Given the description of an element on the screen output the (x, y) to click on. 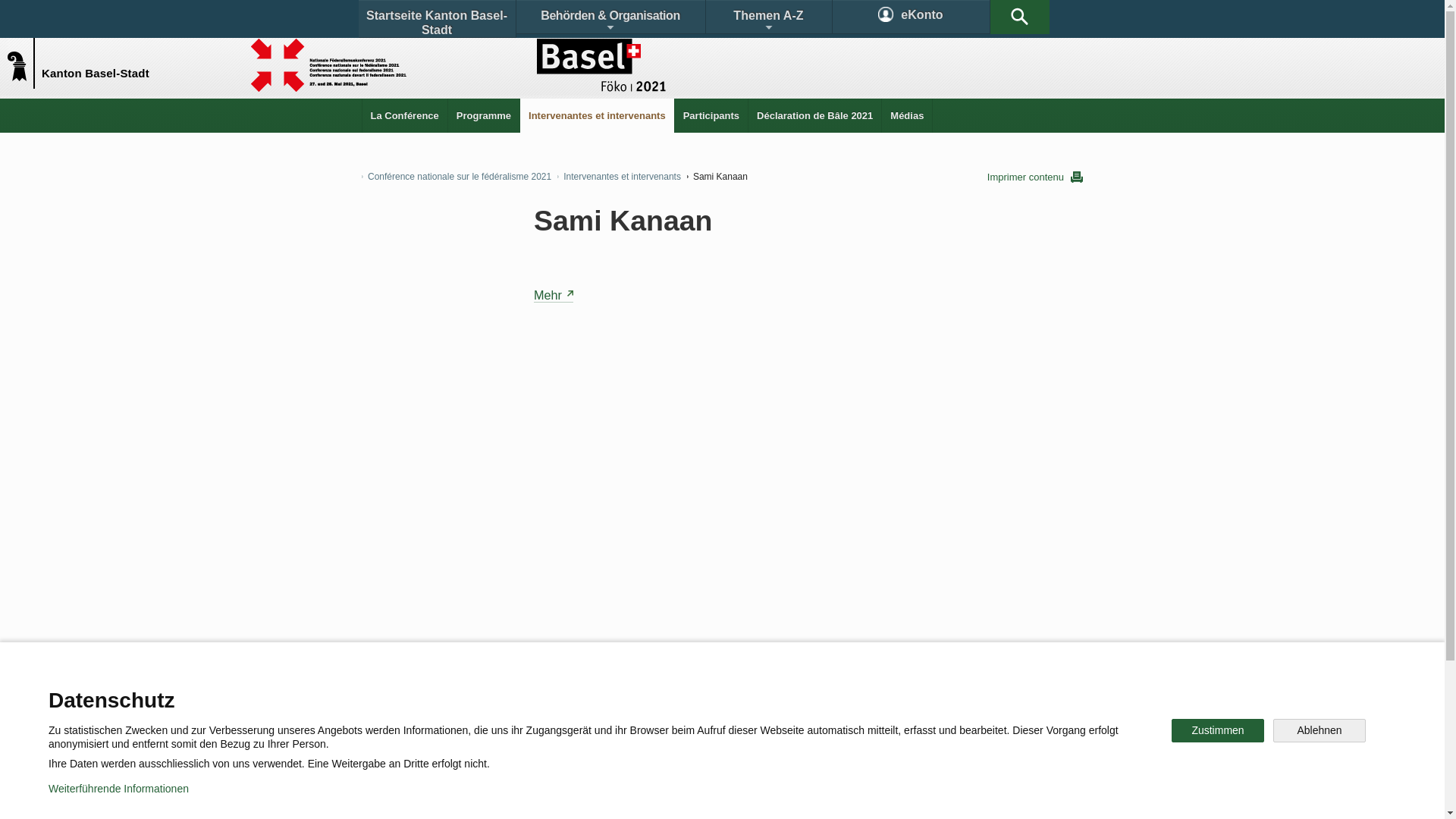
Kanton Basel-Stadt Element type: text (24, 62)
eKonto Element type: text (910, 17)
Intervenantes et intervenants Element type: text (597, 115)
Participants Element type: text (710, 115)
Facebook Element type: text (547, 746)
Intervenantes et intervenants Element type: text (618, 176)
Instagram Element type: text (738, 746)
Twitter Element type: text (642, 746)
Stadtplan & Karte Element type: text (504, 693)
Ablehnen Element type: text (1319, 730)
Impressum Element type: text (648, 796)
Programme Element type: text (483, 115)
Imprimer contenu Element type: text (1034, 176)
Nutzungsregelungen Element type: text (542, 796)
Startseite Kanton Basel-Stadt Element type: text (435, 18)
Kontakt Element type: text (406, 693)
Themen A-Z Element type: text (768, 17)
YouTube Element type: text (839, 746)
Mehr Element type: text (553, 295)
Zustimmen Element type: text (1217, 730)
